Given the description of an element on the screen output the (x, y) to click on. 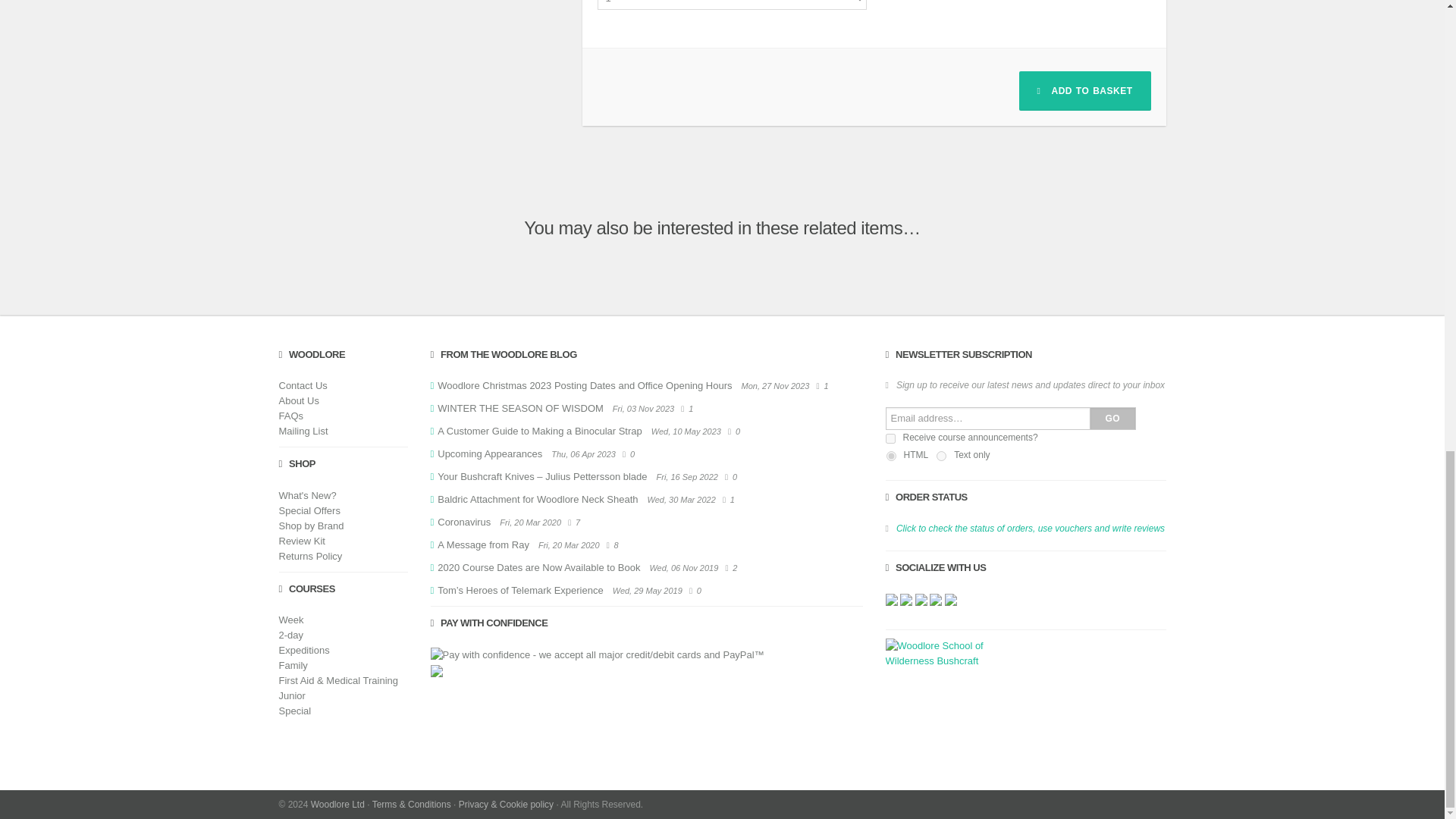
html (890, 456)
text (941, 456)
1 (890, 438)
